Given the description of an element on the screen output the (x, y) to click on. 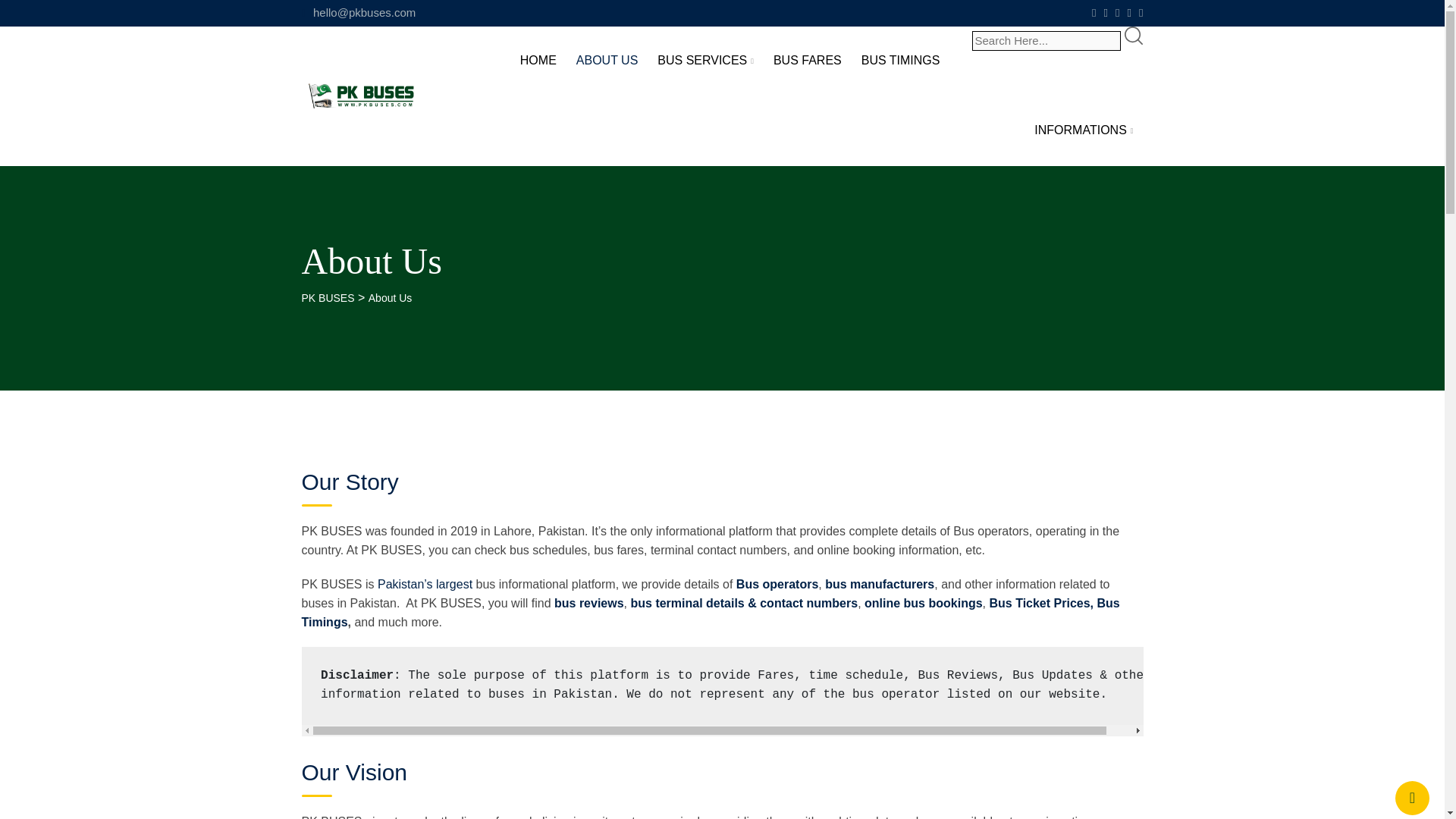
BUS FARES (806, 59)
Go to PK BUSES. (328, 297)
BUS TIMINGS (900, 59)
INFORMATIONS (1083, 130)
ABOUT US (606, 59)
BUS SERVICES (704, 60)
